Given the description of an element on the screen output the (x, y) to click on. 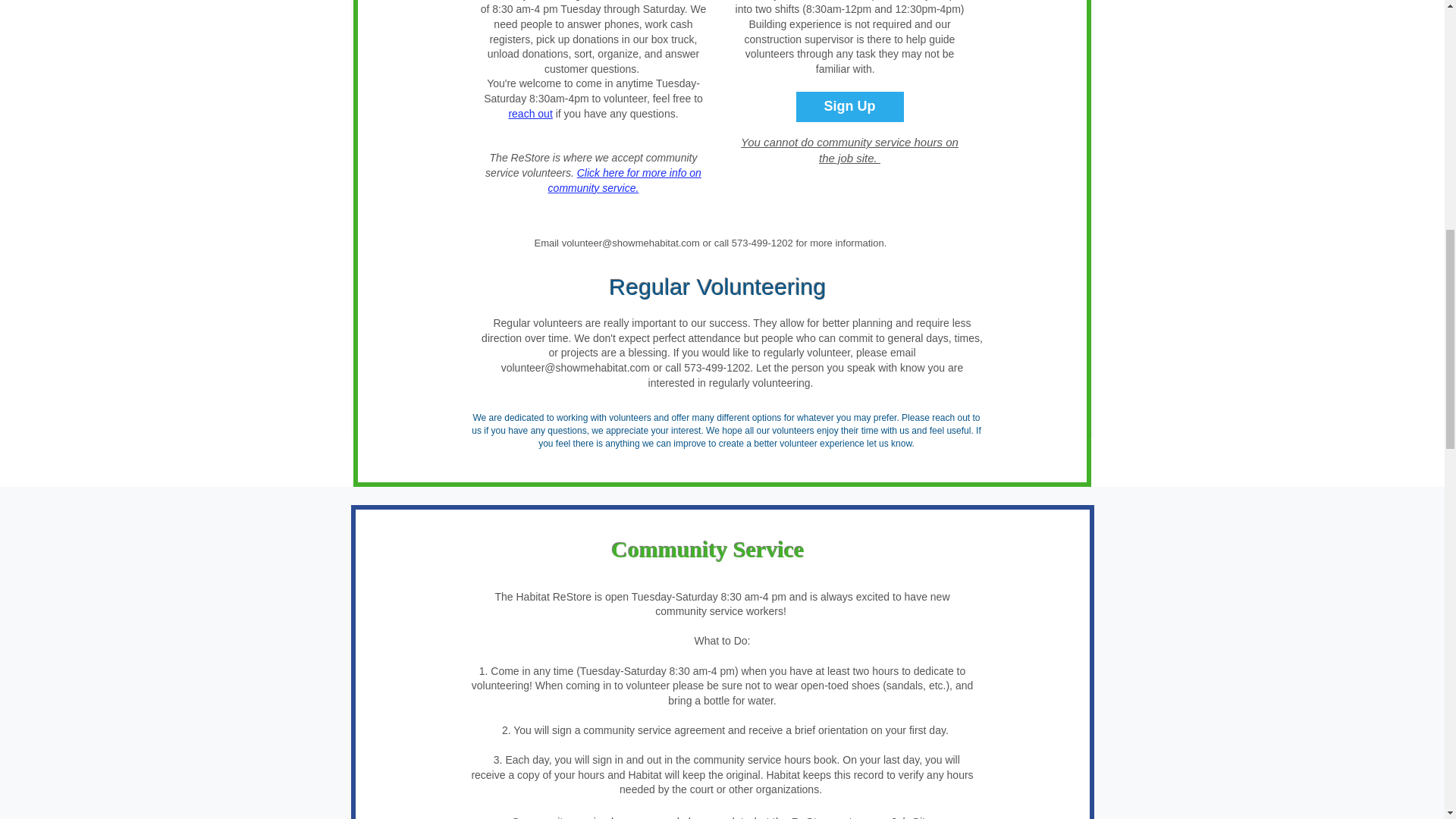
reach out (529, 113)
Sign Up (850, 106)
Click here for more info on community service. (624, 180)
